Given the description of an element on the screen output the (x, y) to click on. 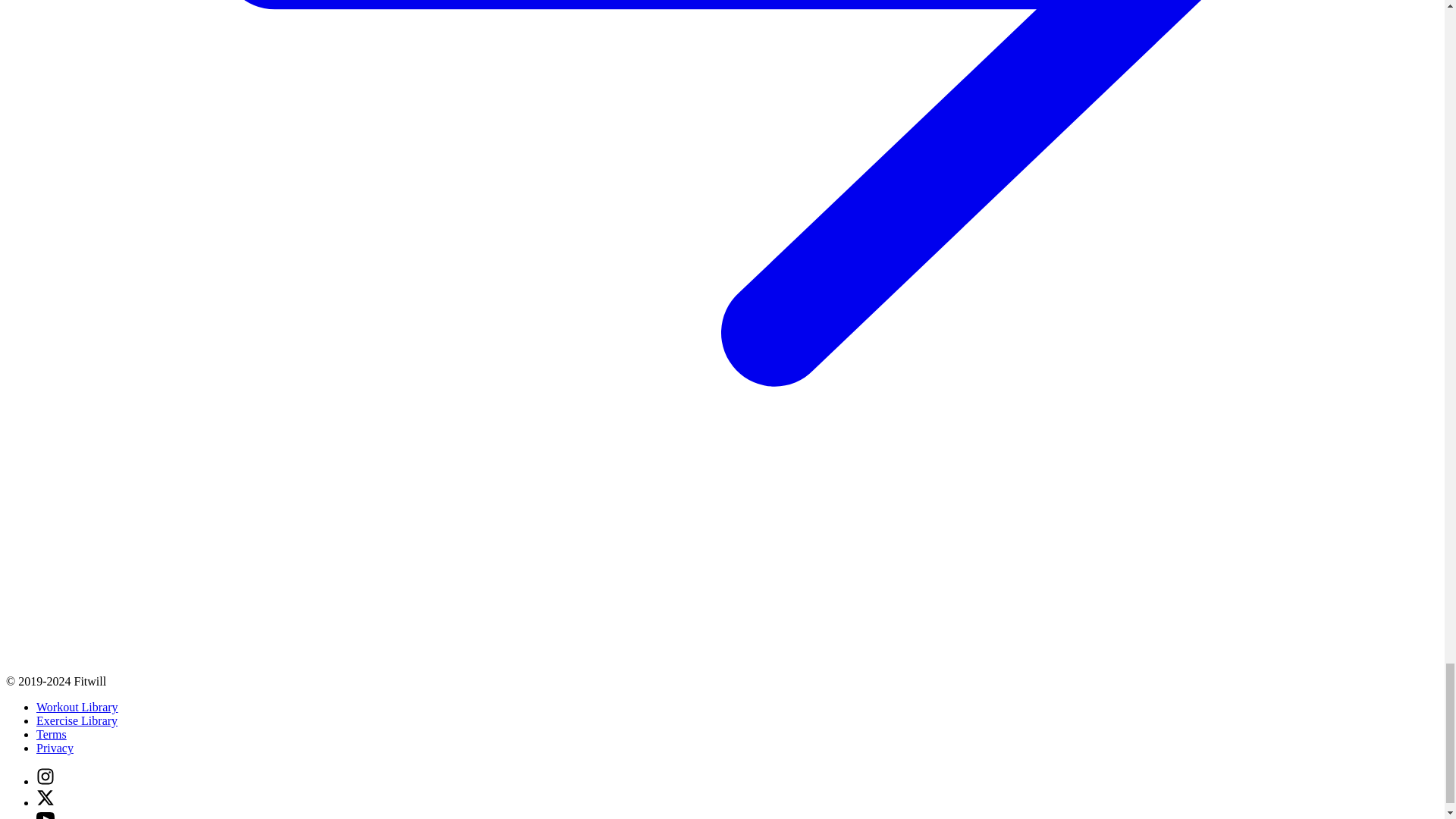
Privacy (55, 748)
Fitwill: Instagram (45, 780)
Exercise Library (76, 720)
Workout Library (76, 707)
Terms (51, 734)
Fitwill: X (45, 802)
